Given the description of an element on the screen output the (x, y) to click on. 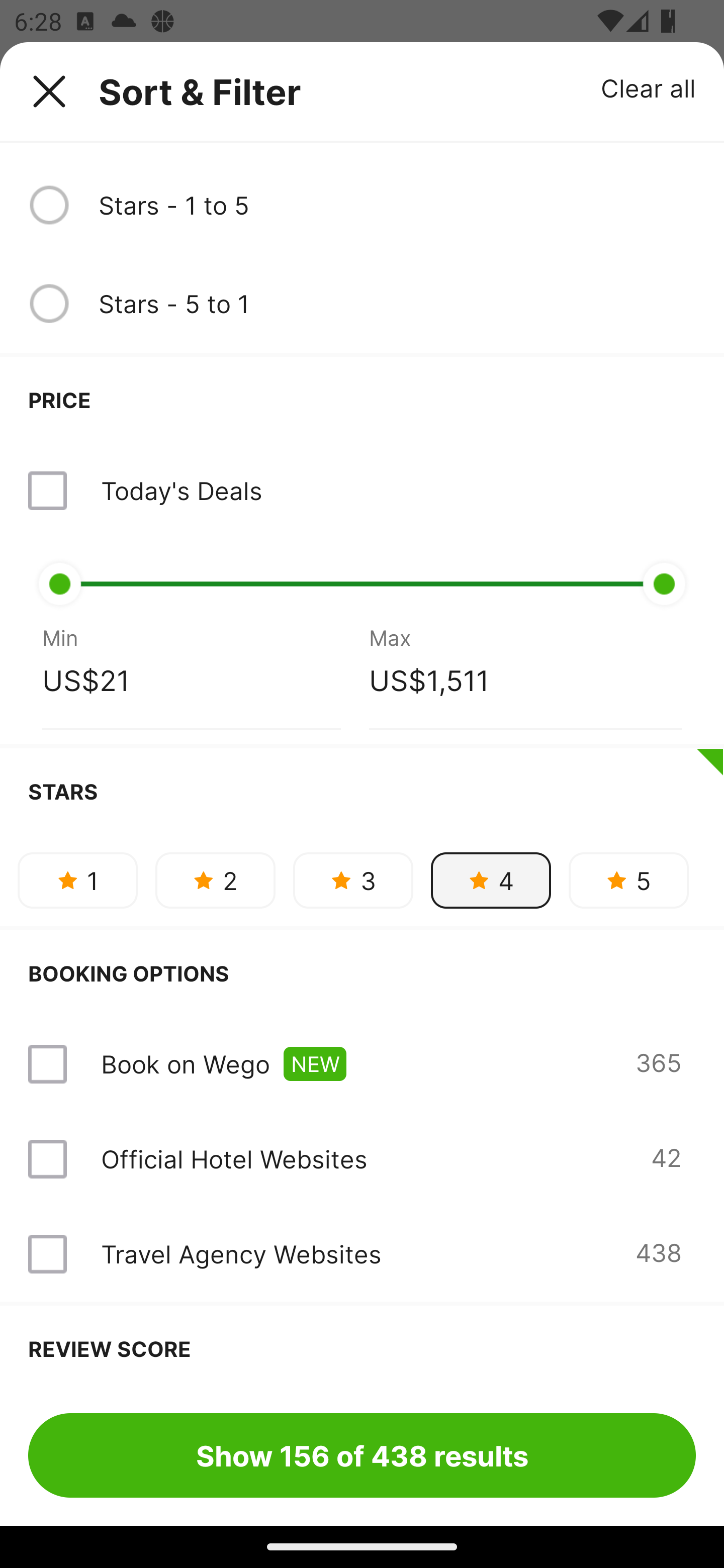
Clear all (648, 87)
Stars - 1 to 5 (396, 205)
Stars - 5 to 1 (396, 303)
Today's Deals (362, 490)
Today's Deals (181, 490)
1 (77, 879)
2 (214, 879)
3 (352, 879)
4 (491, 879)
5 (627, 879)
Book on Wego NEW 365 (362, 1063)
Book on Wego (184, 1063)
Official Hotel Websites 42 (362, 1159)
Official Hotel Websites (233, 1158)
Travel Agency Websites 438 (362, 1254)
Travel Agency Websites (240, 1253)
Show 156 of 438 results (361, 1454)
